Given the description of an element on the screen output the (x, y) to click on. 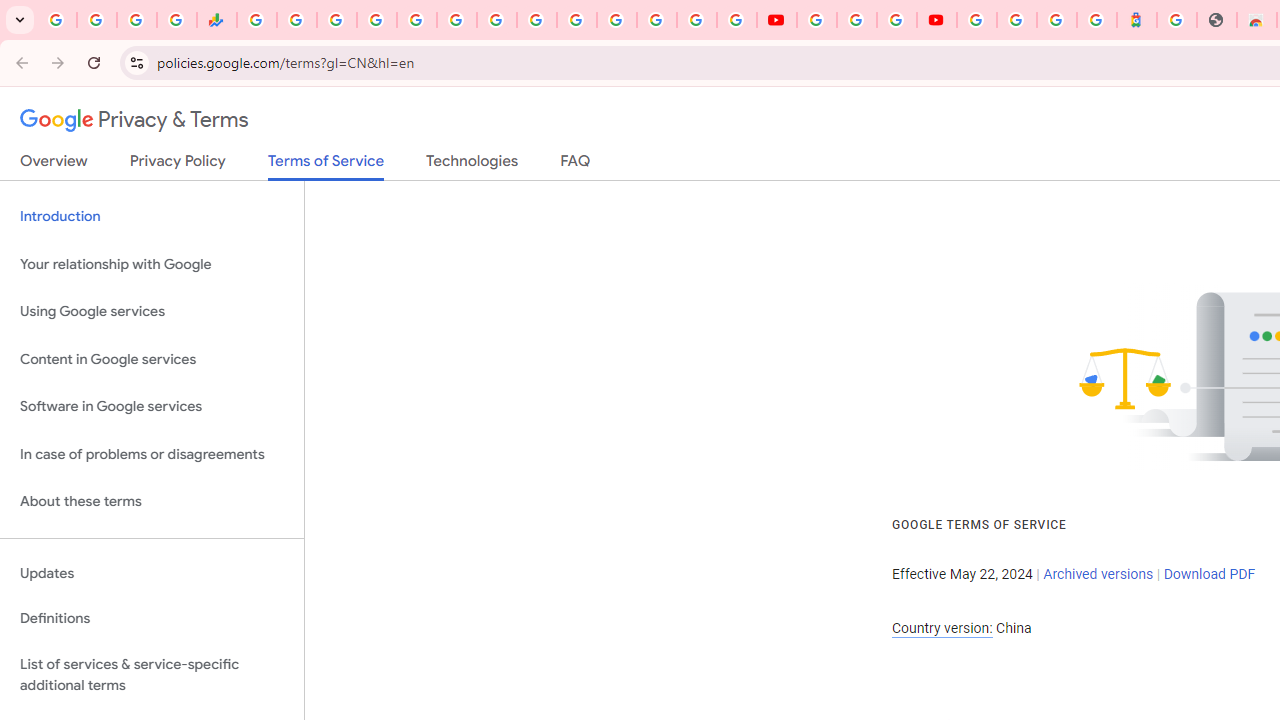
YouTube (536, 20)
YouTube (776, 20)
Country version: (942, 628)
